Given the description of an element on the screen output the (x, y) to click on. 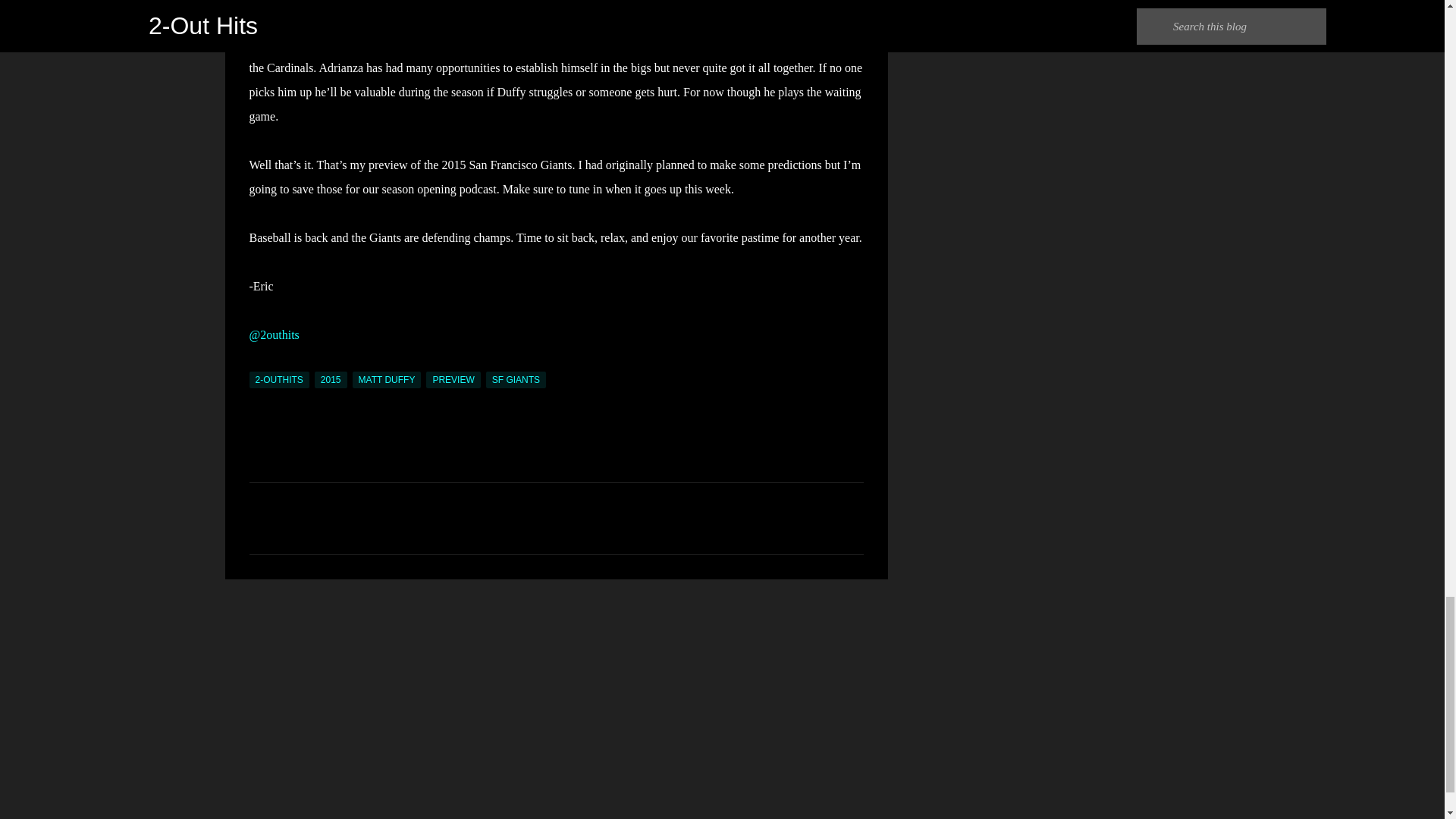
MATT DUFFY (387, 379)
SF GIANTS (516, 379)
PREVIEW (453, 379)
2-OUTHITS (278, 379)
Email Post (257, 362)
2015 (330, 379)
